Given the description of an element on the screen output the (x, y) to click on. 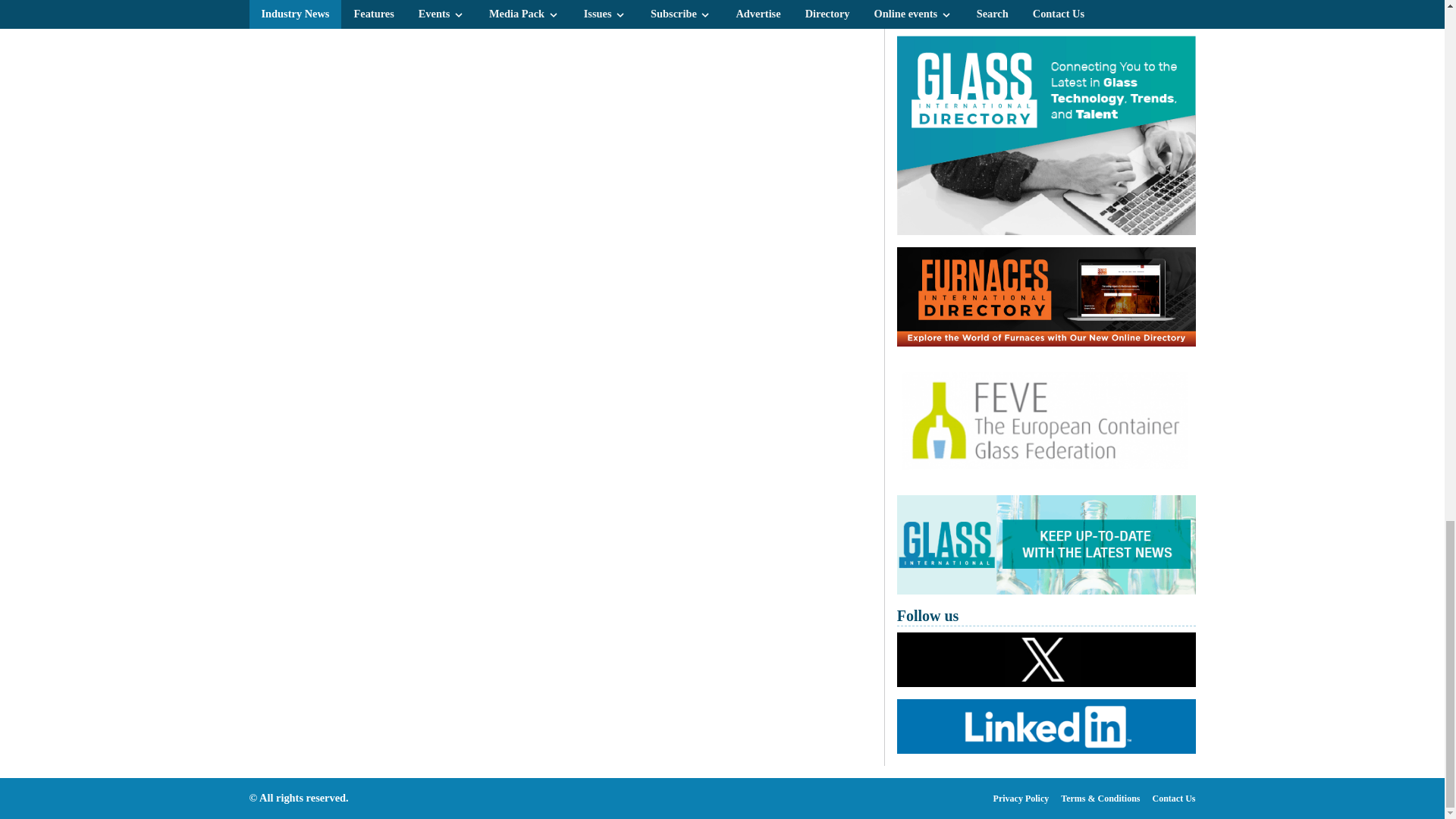
Glass International Directory (1045, 135)
Furnaces International Directory (1045, 296)
Furnaces International (1045, 11)
